Given the description of an element on the screen output the (x, y) to click on. 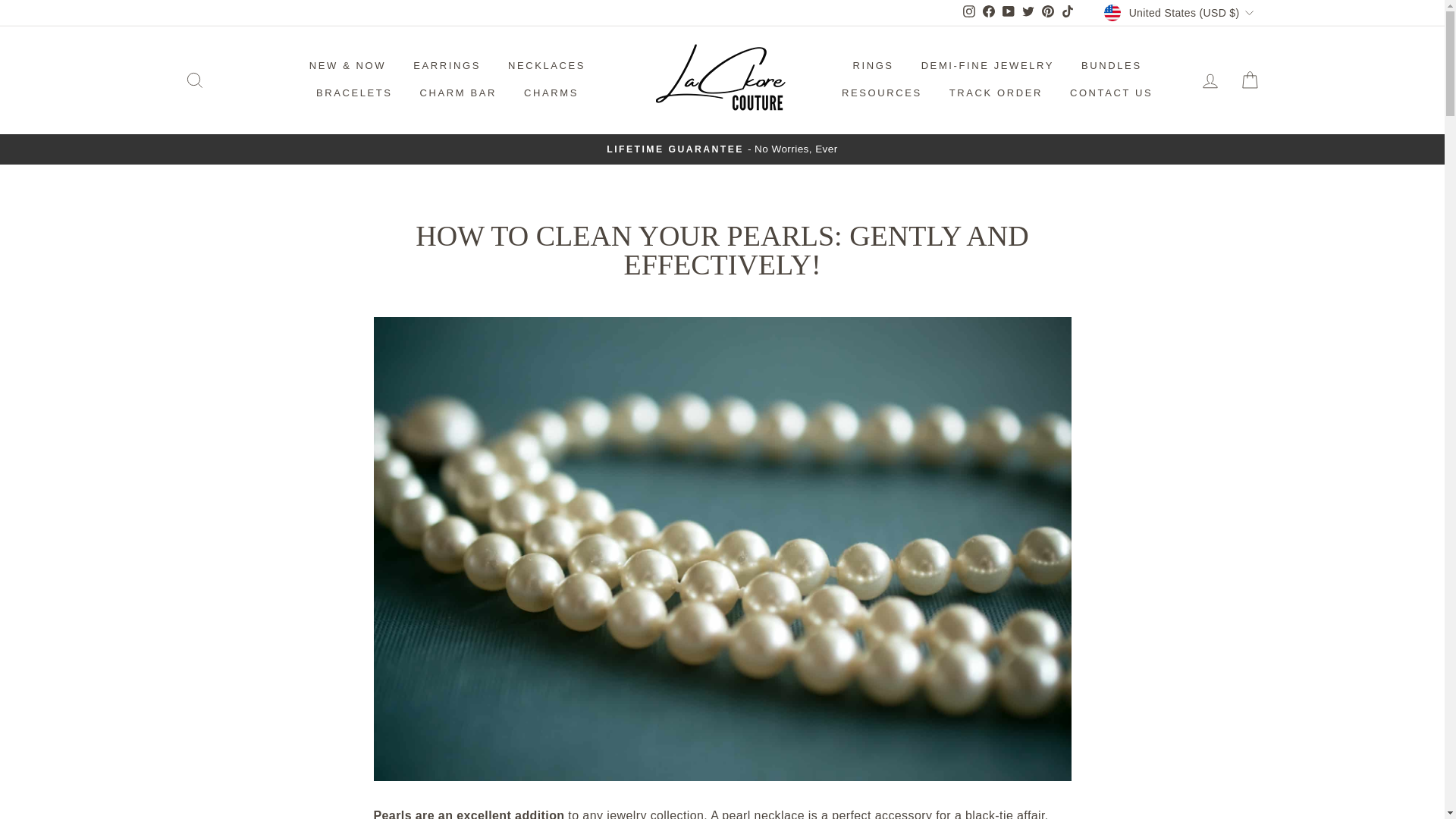
LaCkore Couture on Instagram (968, 12)
LaCkore Couture on Twitter (1027, 12)
LaCkore Couture on Pinterest (1048, 12)
LaCkore Couture on Facebook (988, 12)
LaCkore Couture on TikTok (1067, 12)
LaCkore Couture on YouTube (1007, 12)
